Given the description of an element on the screen output the (x, y) to click on. 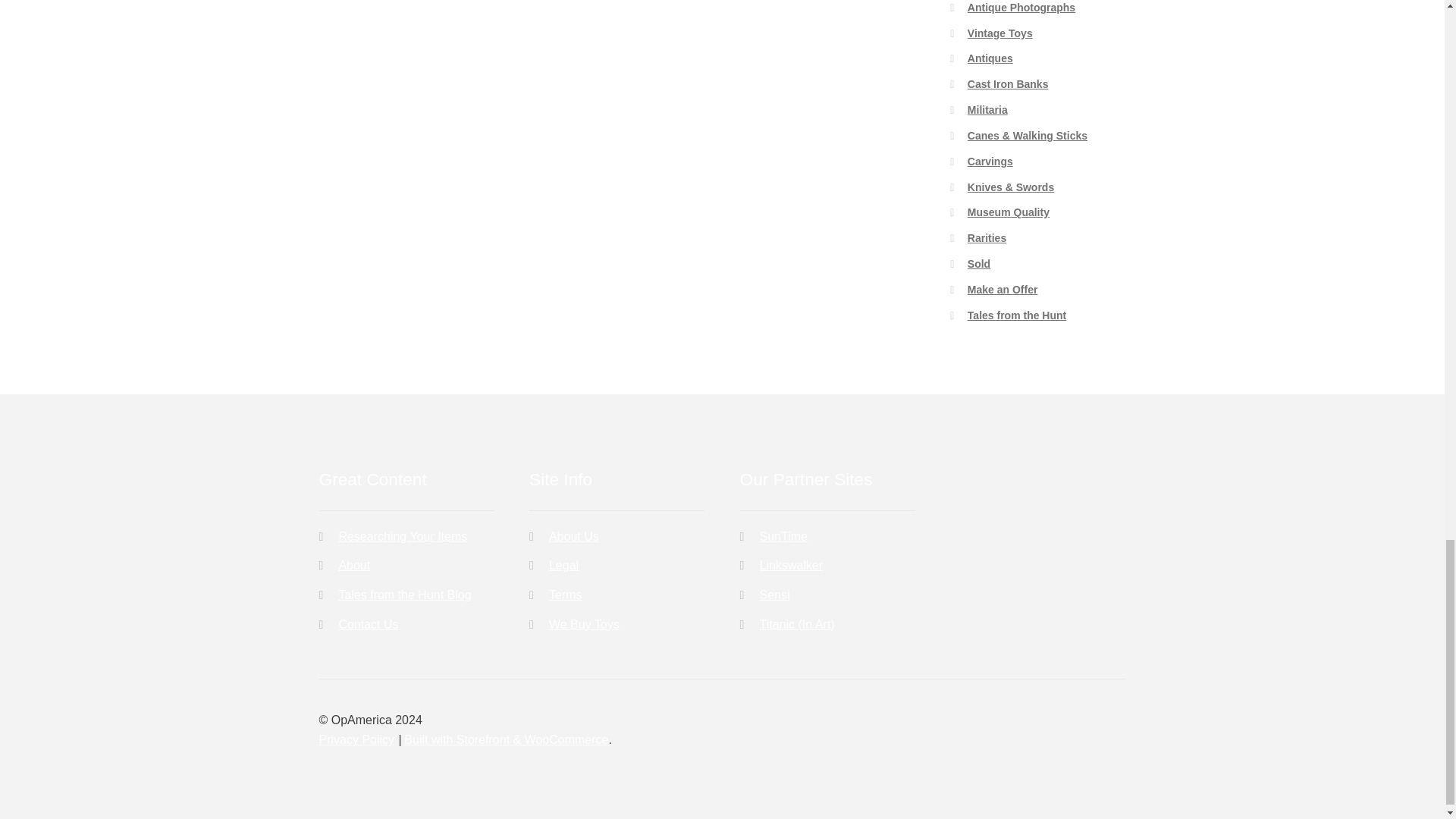
WooCommerce - The Best eCommerce Platform for WordPress (506, 739)
